Given the description of an element on the screen output the (x, y) to click on. 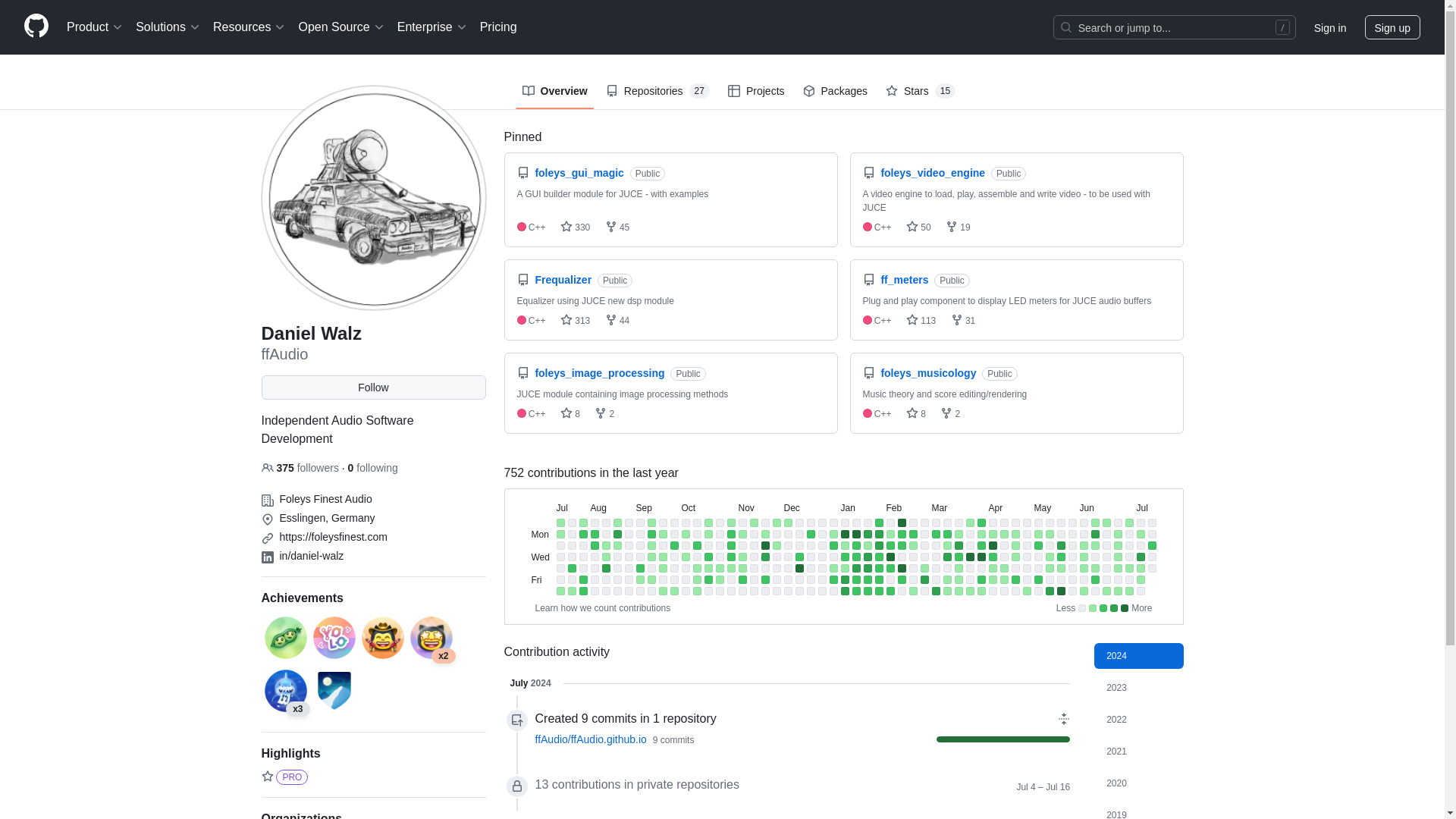
Label: Pro (291, 776)
Open Source (341, 27)
15 (944, 90)
27 (699, 90)
Solutions (167, 27)
Product (95, 27)
LinkedIn (266, 557)
Resources (249, 27)
